Given the description of an element on the screen output the (x, y) to click on. 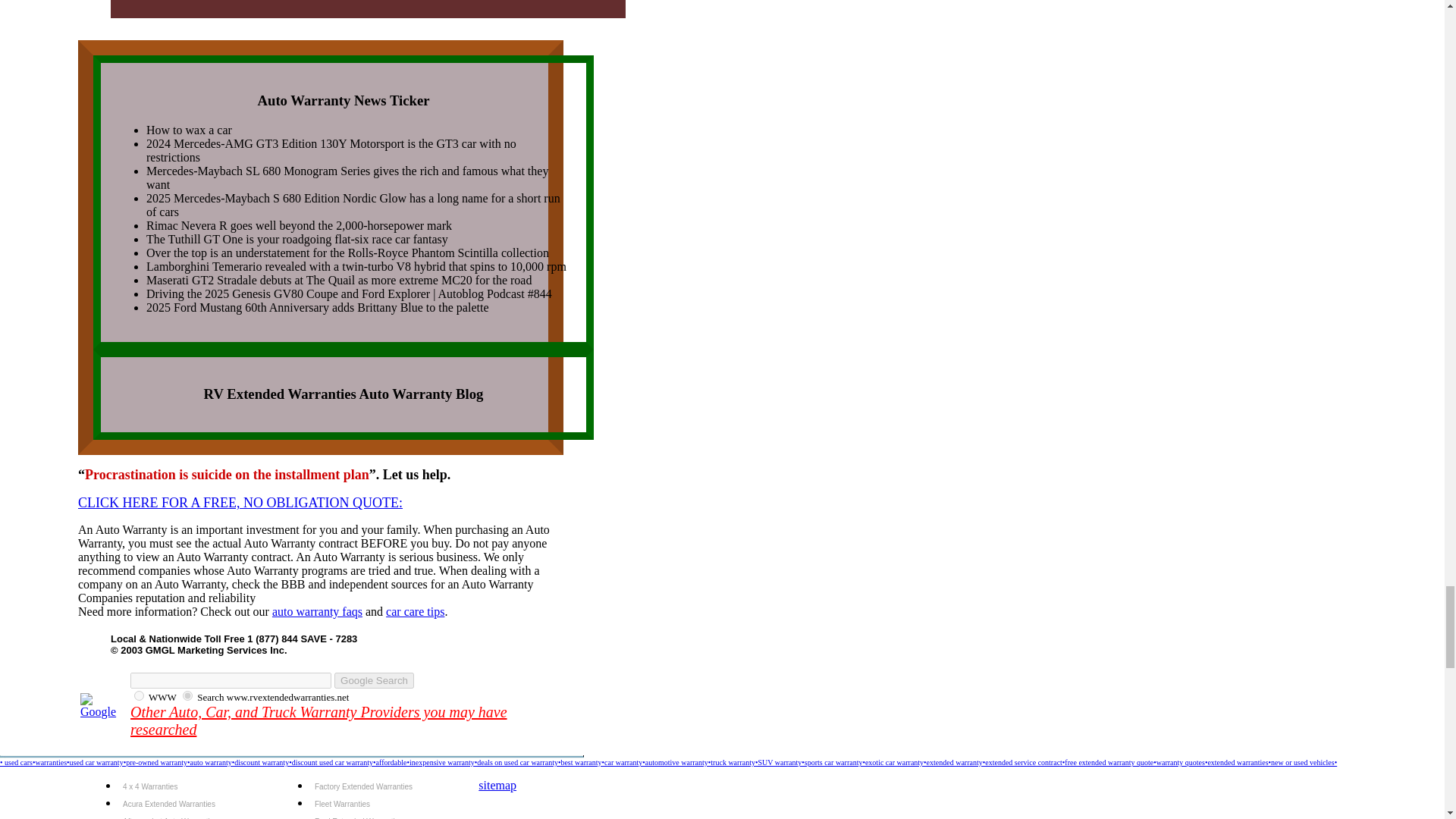
Google Search (373, 680)
www.rvextendedwarranties.net (187, 696)
How to wax a car (189, 129)
